Given the description of an element on the screen output the (x, y) to click on. 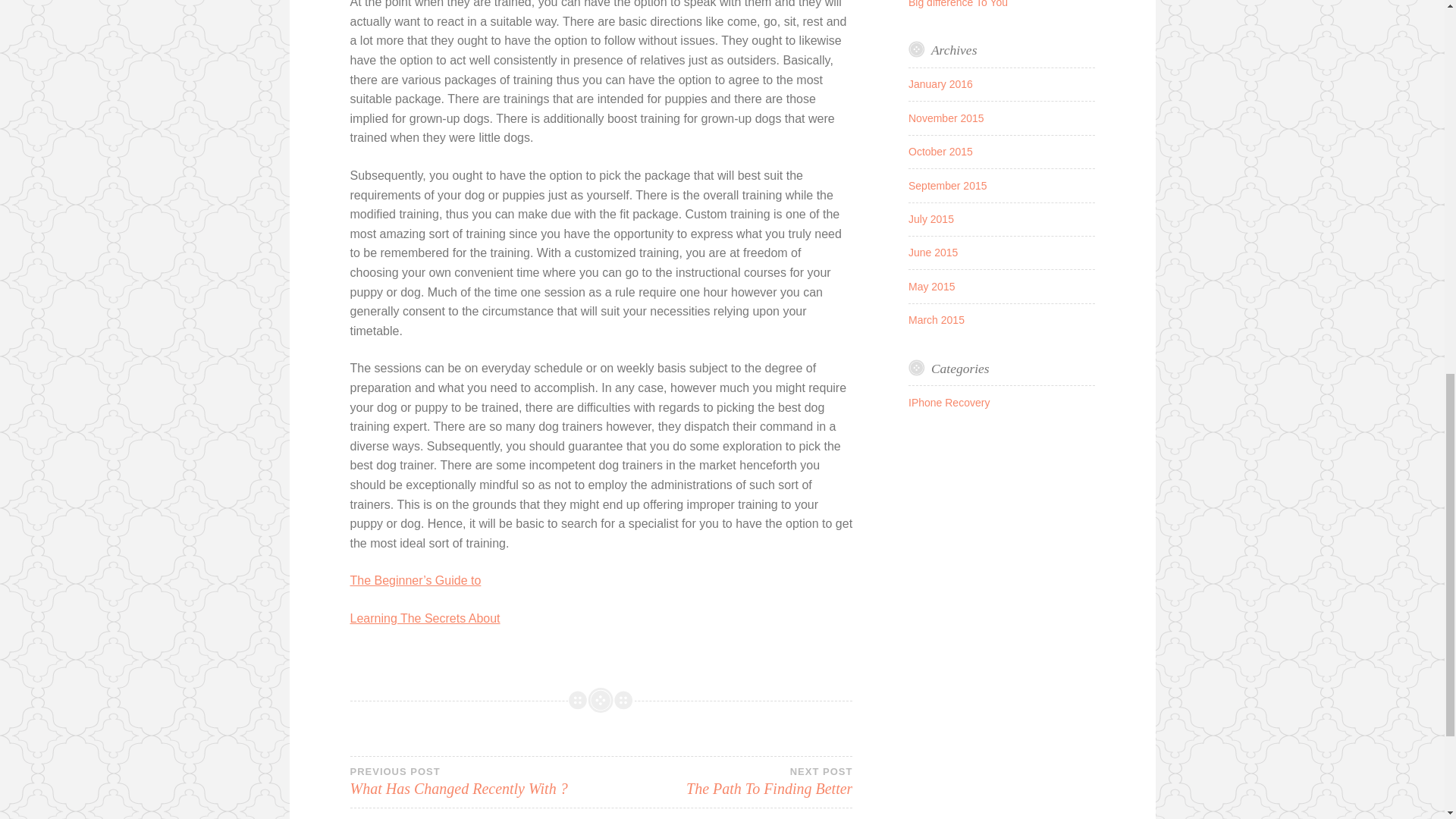
Learning The Secrets About (425, 617)
October 2015 (940, 151)
November 2015 (946, 118)
March 2015 (935, 319)
May 2015 (931, 286)
September 2015 (947, 185)
IPhone Recovery (949, 402)
June 2015 (933, 252)
The Iphone And How It Can Make A Big difference To You (726, 780)
January 2016 (992, 3)
July 2015 (940, 83)
